Given the description of an element on the screen output the (x, y) to click on. 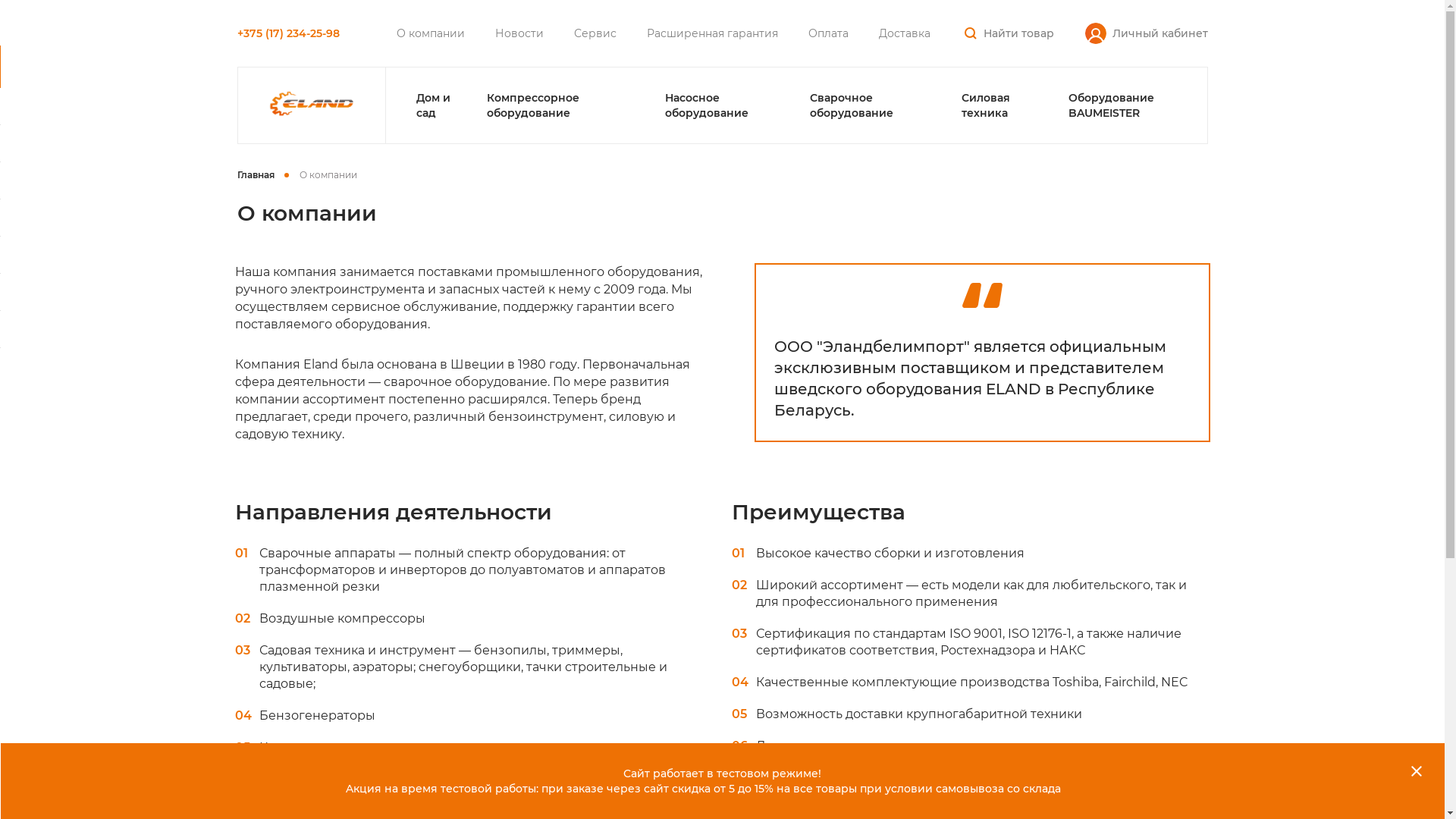
logo_2022_small_5.gif Element type: hover (311, 103)
+375 (17) 234-25-98 Element type: text (287, 32)
